Given the description of an element on the screen output the (x, y) to click on. 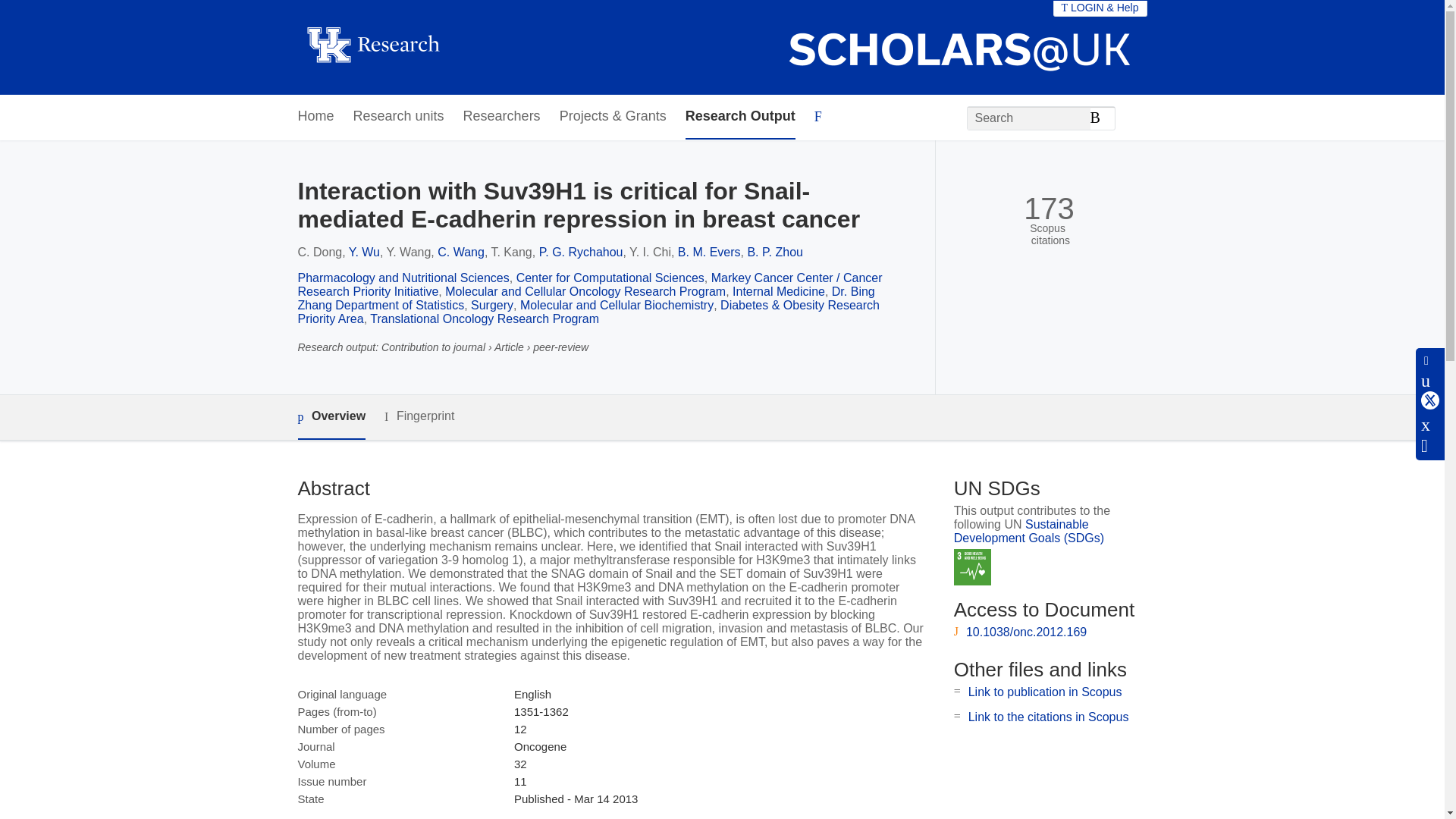
Molecular and Cellular Oncology Research Program (585, 291)
P. G. Rychahou (580, 251)
Link to publication in Scopus (1045, 691)
Molecular and Cellular Biochemistry (616, 305)
B. M. Evers (709, 251)
Research units (398, 117)
SDG 3 - Good Health and Well-being (972, 567)
Center for Computational Sciences (610, 277)
Link to the citations in Scopus (1048, 716)
Dr. Bing Zhang Department of Statistics (586, 298)
